Given the description of an element on the screen output the (x, y) to click on. 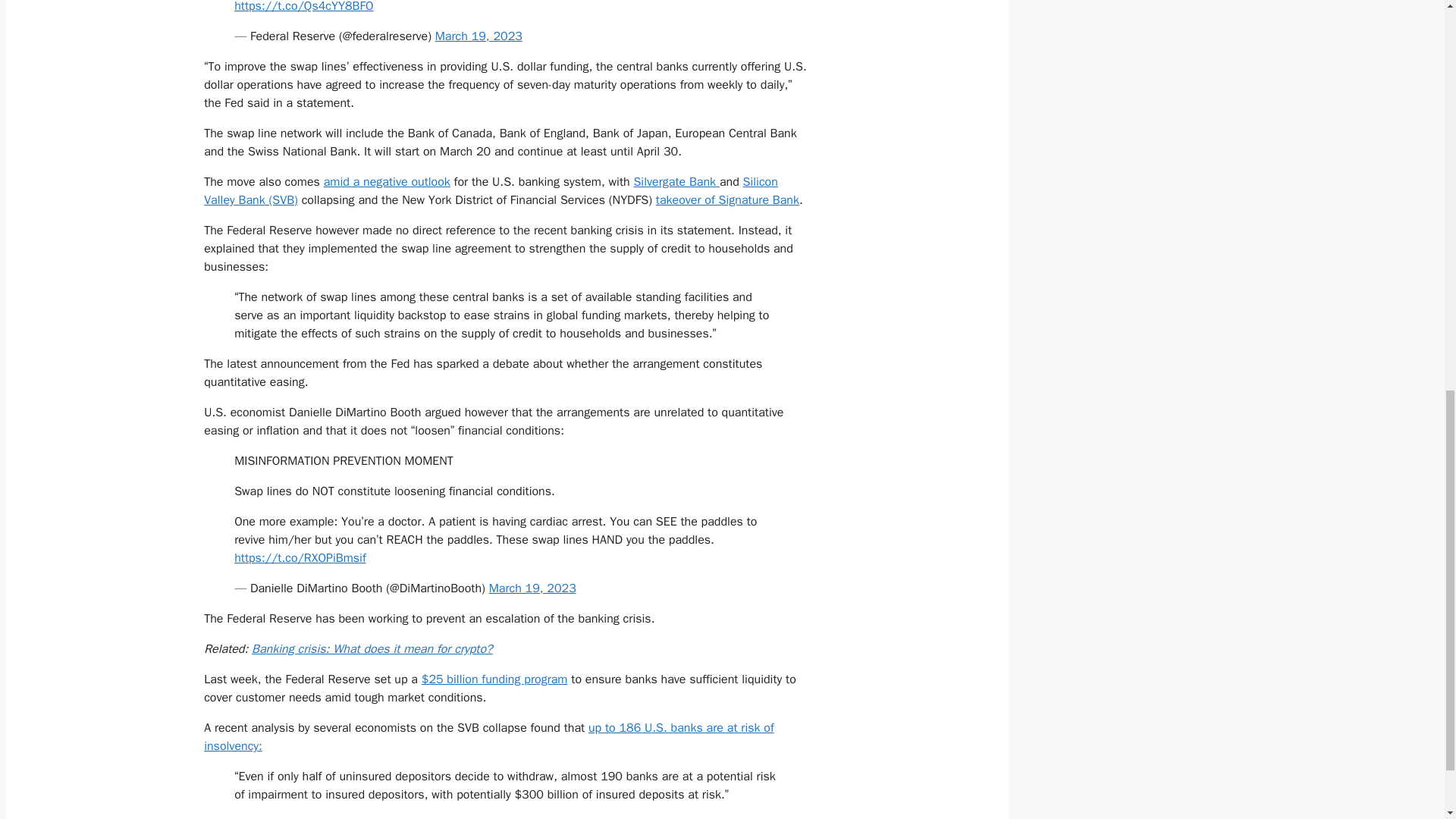
amid a negative outlook (386, 181)
Banking crisis: What does it mean for crypto? (372, 648)
Silvergate Bank (676, 181)
takeover of Signature Bank (727, 200)
up to 186 U.S. banks are at risk of insolvency: (488, 736)
March 19, 2023 (532, 588)
March 19, 2023 (478, 36)
